Given the description of an element on the screen output the (x, y) to click on. 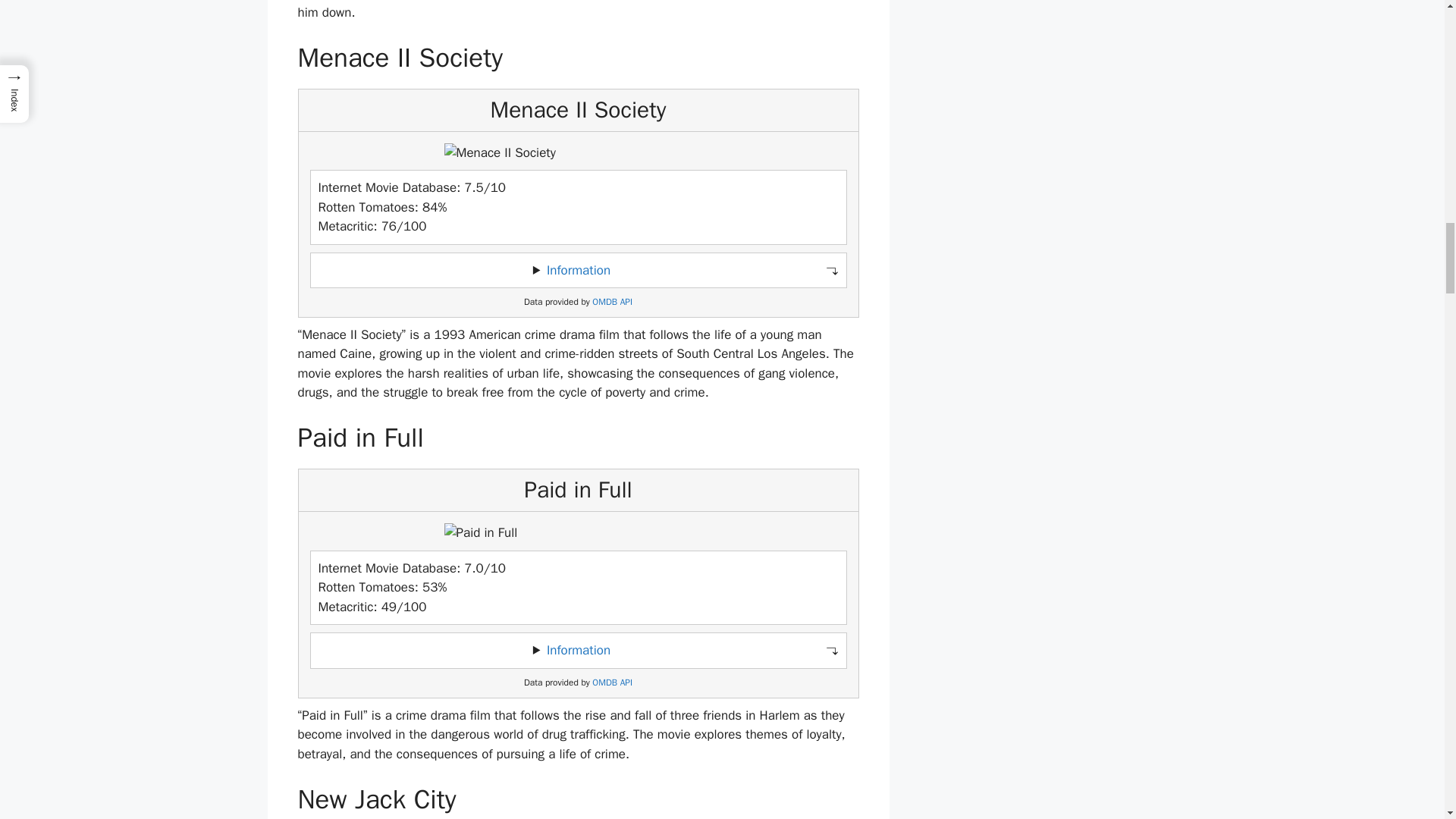
Toggle information (578, 270)
Toggle information (578, 650)
Open Movie Database API (611, 682)
Open Movie Database API (611, 301)
Information (578, 270)
OMDB API (611, 301)
Information (578, 650)
OMDB API (611, 682)
